Given the description of an element on the screen output the (x, y) to click on. 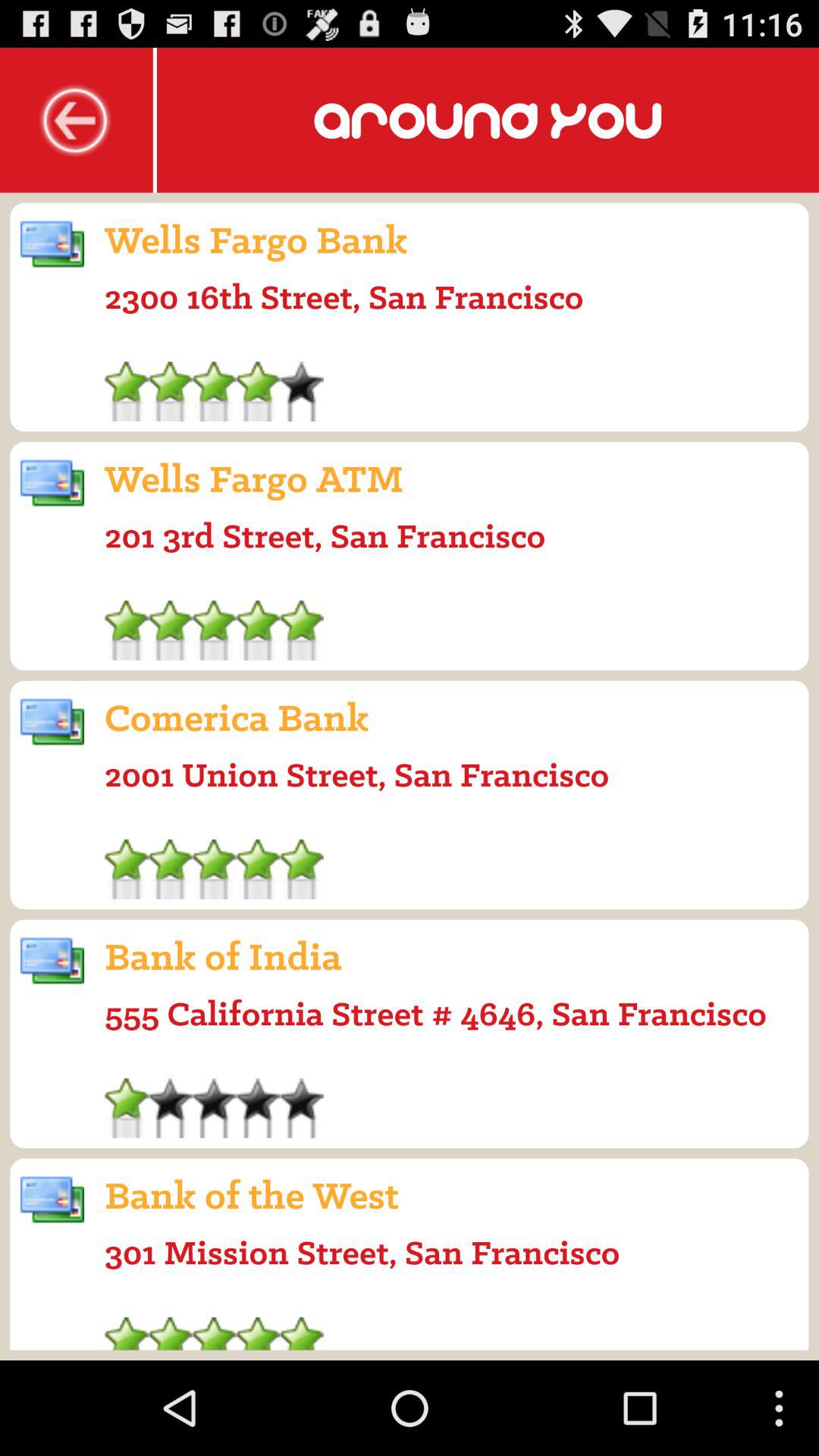
scroll to the 201 3rd street item (324, 535)
